Given the description of an element on the screen output the (x, y) to click on. 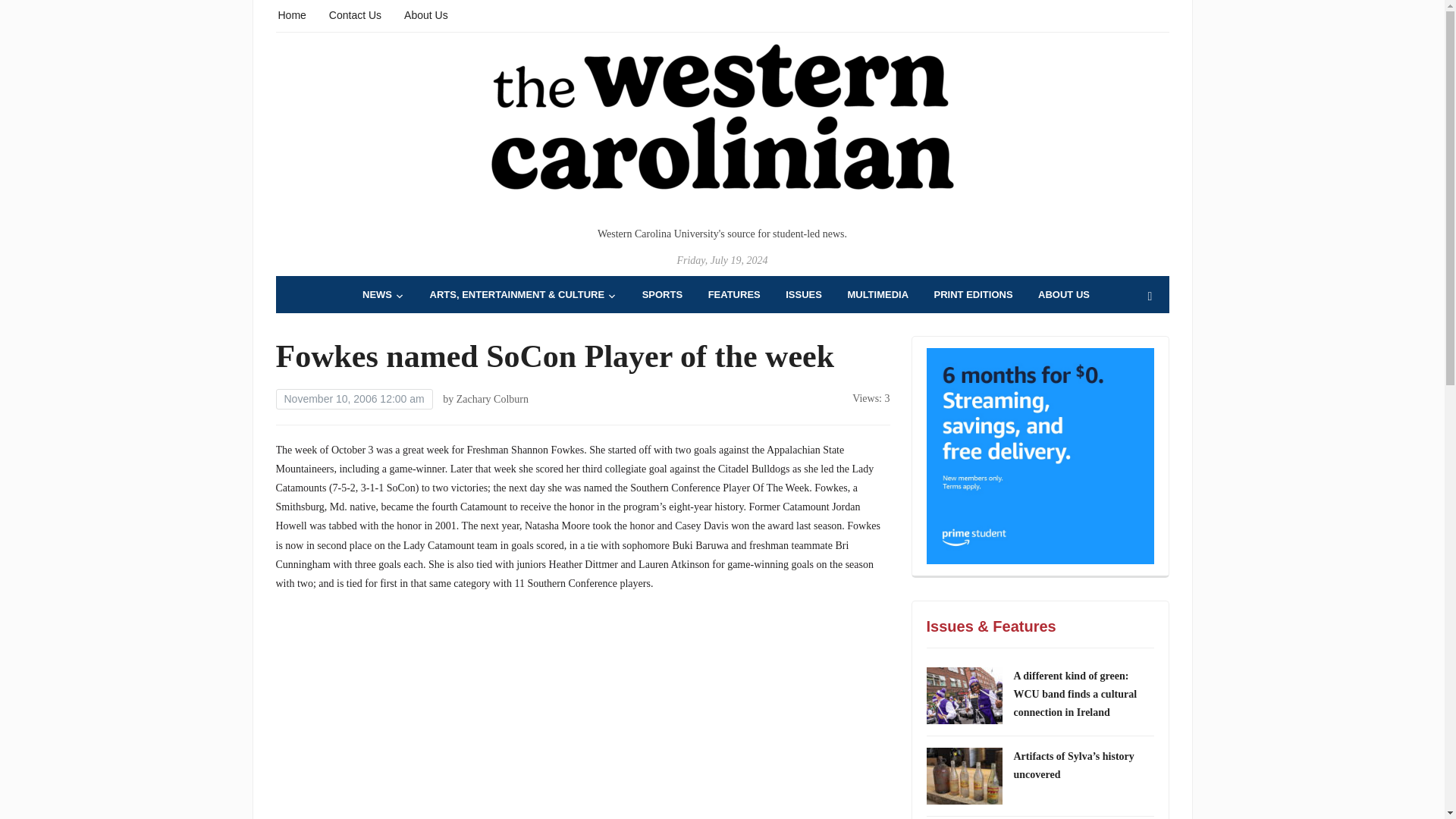
MULTIMEDIA (877, 294)
Search (1149, 296)
SPORTS (662, 294)
ISSUES (804, 294)
NEWS (383, 294)
Home (291, 14)
Contact Us (355, 14)
ABOUT US (1063, 294)
FEATURES (733, 294)
PRINT EDITIONS (973, 294)
About Us (426, 14)
